Given the description of an element on the screen output the (x, y) to click on. 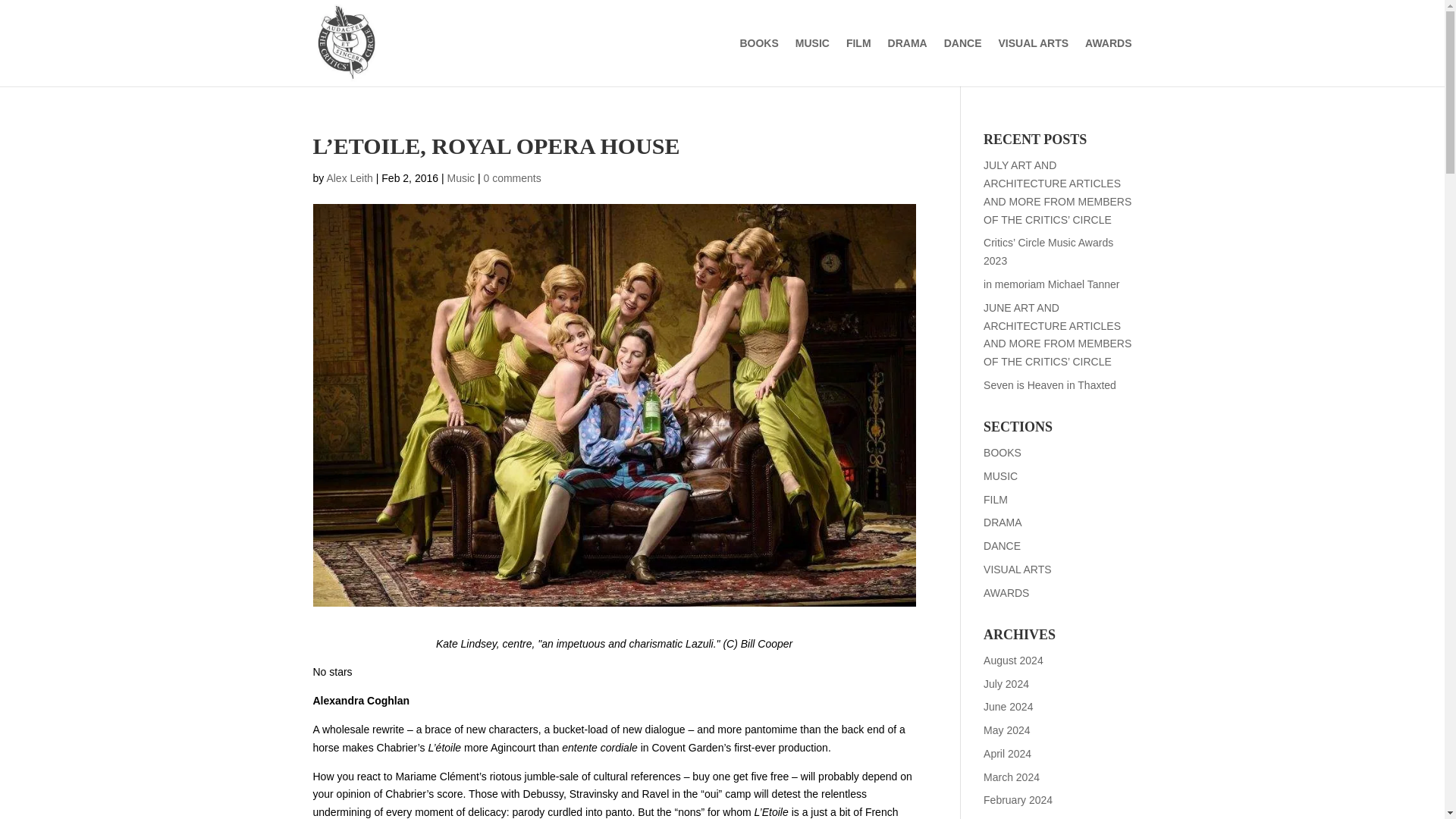
April 2024 (1007, 753)
DANCE (1002, 545)
BOOKS (1003, 452)
January 2024 (1016, 818)
July 2024 (1006, 684)
Music (460, 177)
Seven is Heaven in Thaxted (1050, 385)
June 2024 (1008, 706)
VISUAL ARTS (1017, 569)
in memoriam Michael Tanner (1051, 284)
